Given the description of an element on the screen output the (x, y) to click on. 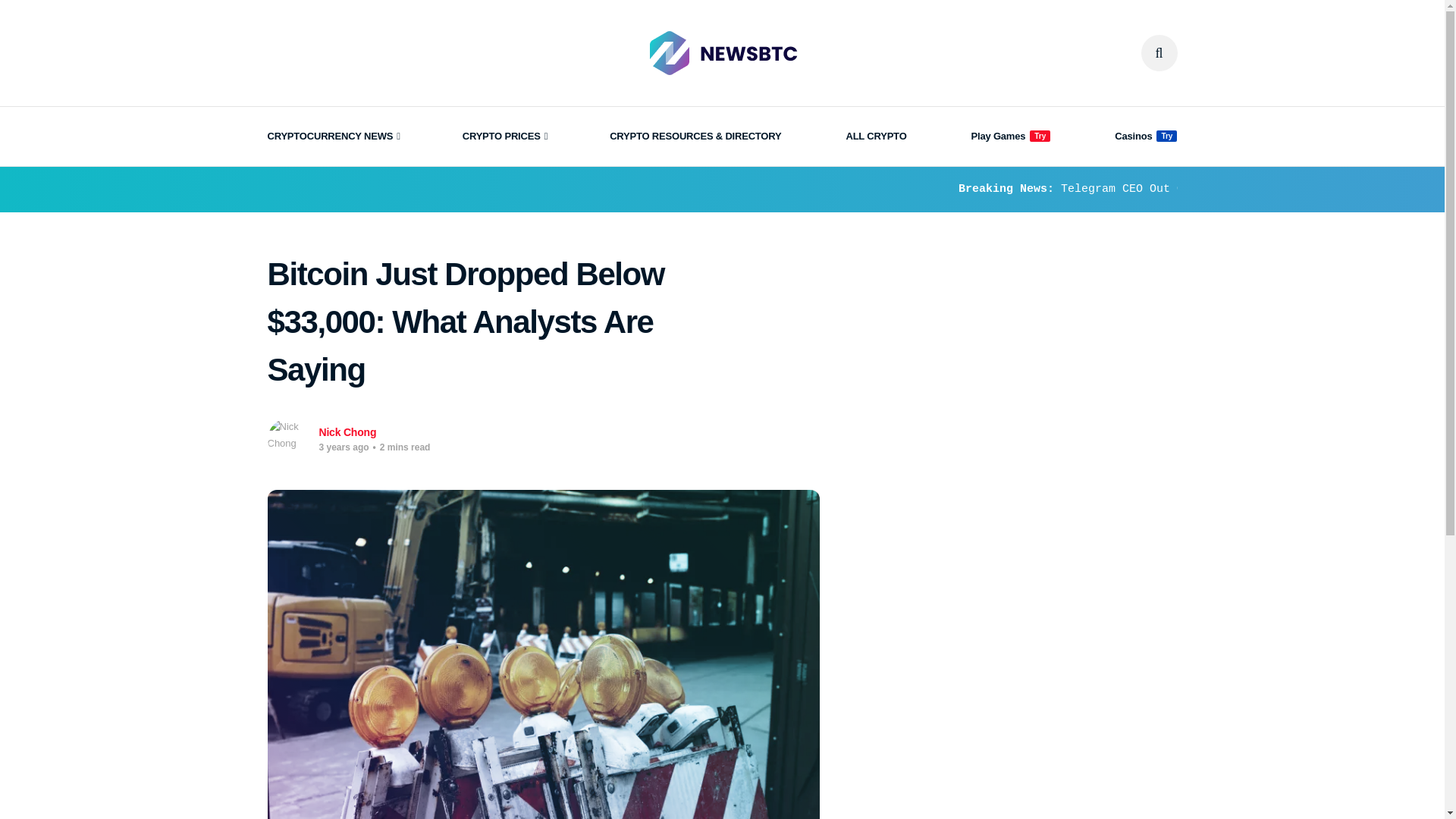
CRYPTOCURRENCY NEWS (331, 136)
CRYPTO PRICES (503, 136)
ALL CRYPTO (875, 136)
